Given the description of an element on the screen output the (x, y) to click on. 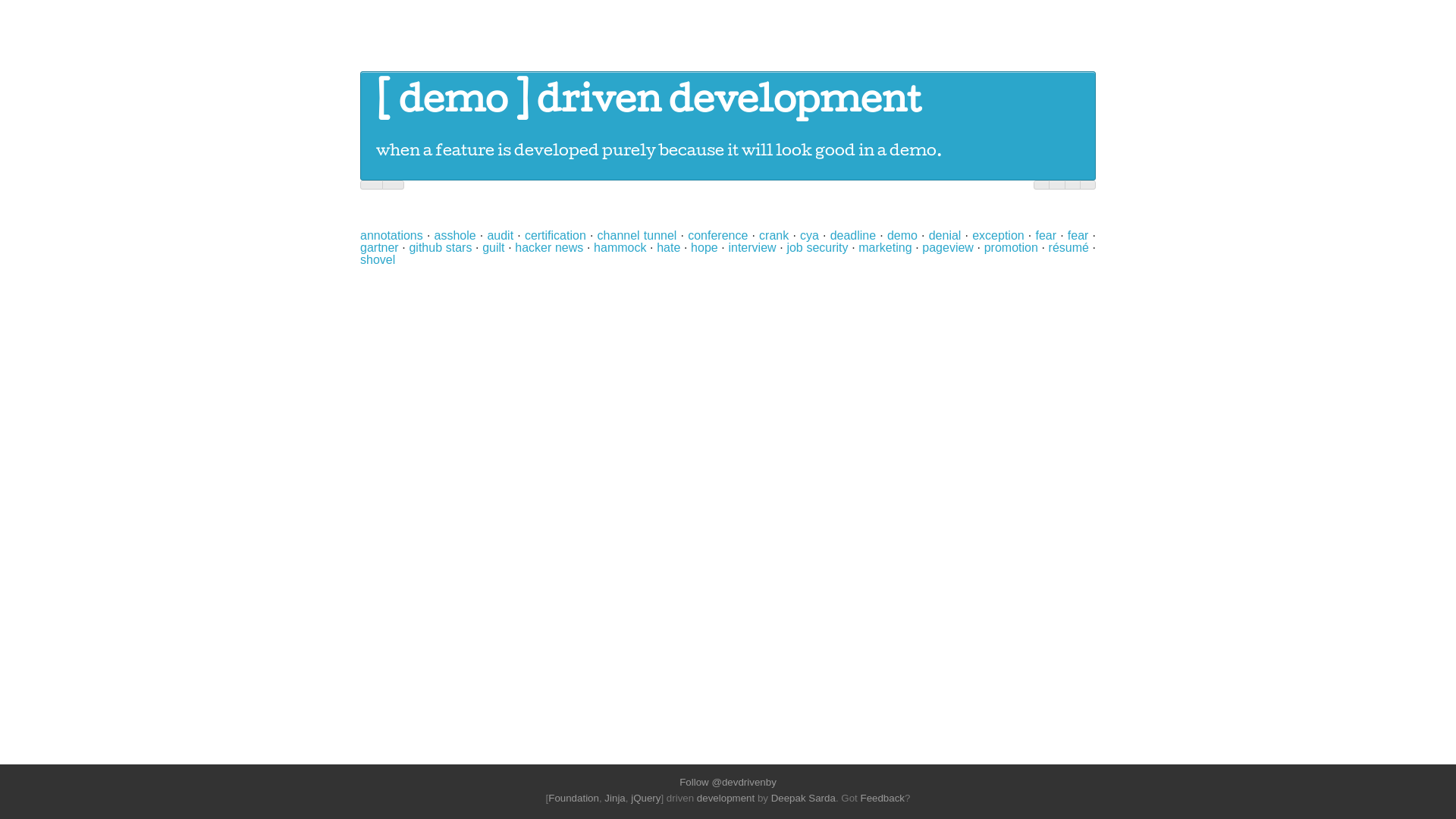
cya Element type: text (809, 235)
denial Element type: text (944, 235)
demo Element type: text (902, 235)
job security Element type: text (816, 247)
pageview Element type: text (947, 247)
channel tunnel Element type: text (637, 235)
asshole Element type: text (454, 235)
promotion Element type: text (1011, 247)
development Element type: text (725, 797)
Feedback Element type: text (881, 797)
Foundation Element type: text (573, 797)
Deepak Sarda Element type: text (803, 797)
hacker news Element type: text (548, 247)
next Element type: hover (393, 184)
hammock Element type: text (619, 247)
shovel Element type: text (377, 259)
source Element type: hover (1056, 184)
fear Element type: text (1077, 235)
exception Element type: text (998, 235)
jQuery Element type: text (645, 797)
conference Element type: text (717, 235)
demo Element type: text (452, 103)
github stars Element type: text (439, 247)
crank Element type: text (773, 235)
suggest new Element type: hover (1087, 184)
previous Element type: hover (371, 184)
permalink Element type: hover (1072, 184)
hate Element type: text (668, 247)
guilt Element type: text (493, 247)
annotations Element type: text (391, 235)
gartner Element type: text (379, 247)
Jinja Element type: text (614, 797)
fear Element type: text (1045, 235)
Follow @devdrivenby Element type: text (727, 781)
share on twitter Element type: hover (1041, 184)
hope Element type: text (704, 247)
interview Element type: text (751, 247)
certification Element type: text (555, 235)
audit Element type: text (499, 235)
marketing Element type: text (884, 247)
deadline Element type: text (853, 235)
